Given the description of an element on the screen output the (x, y) to click on. 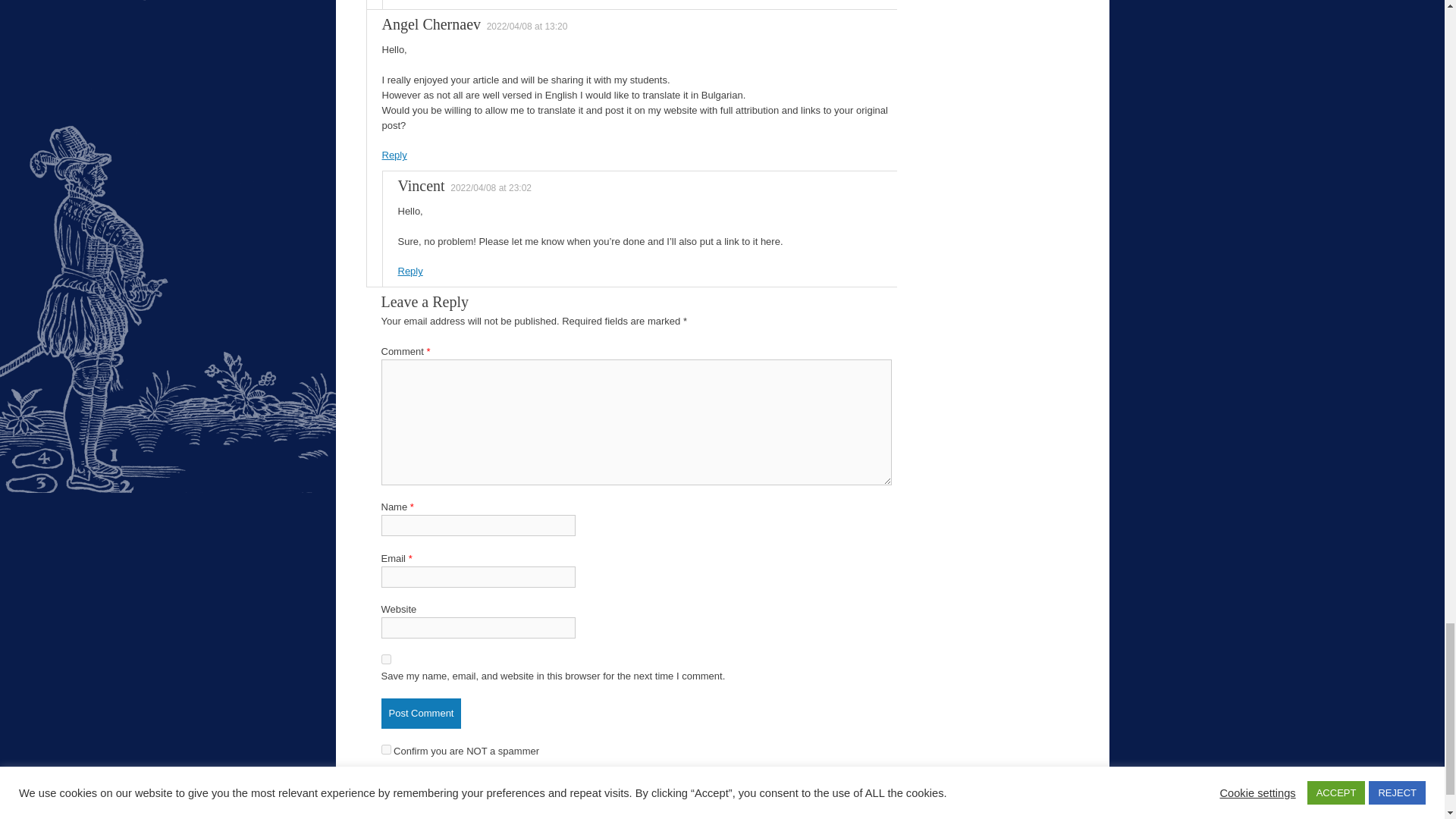
on (385, 749)
Post Comment (420, 713)
yes (385, 659)
Angel Chernaev (431, 23)
